Given the description of an element on the screen output the (x, y) to click on. 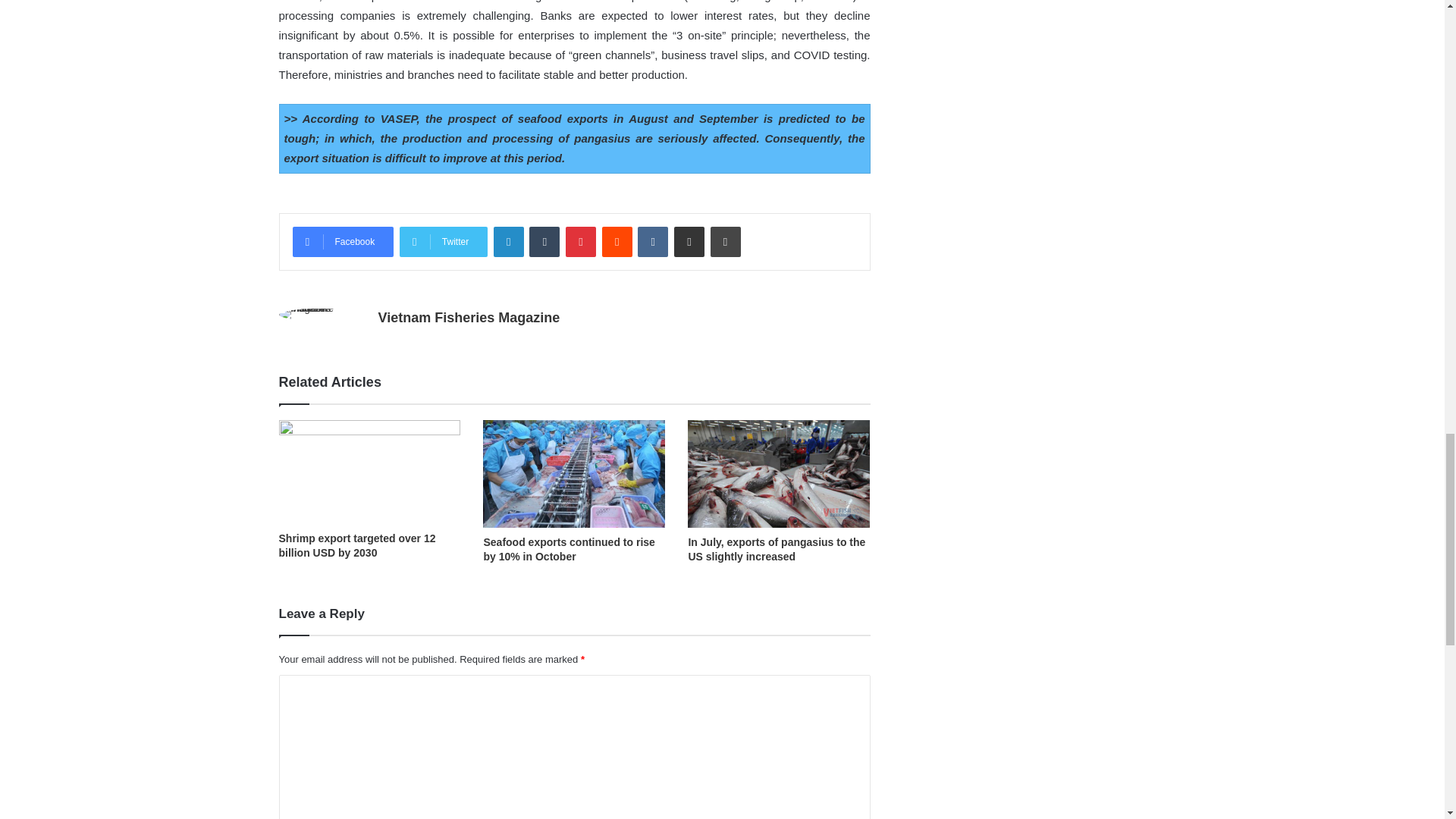
Shrimp export targeted over 12 billion USD by 2030 (357, 545)
Facebook (343, 241)
Print (725, 241)
Print (725, 241)
Twitter (442, 241)
LinkedIn (508, 241)
Tumblr (544, 241)
Pinterest (580, 241)
Tumblr (544, 241)
Vietnam Fisheries Magazine (468, 317)
